Given the description of an element on the screen output the (x, y) to click on. 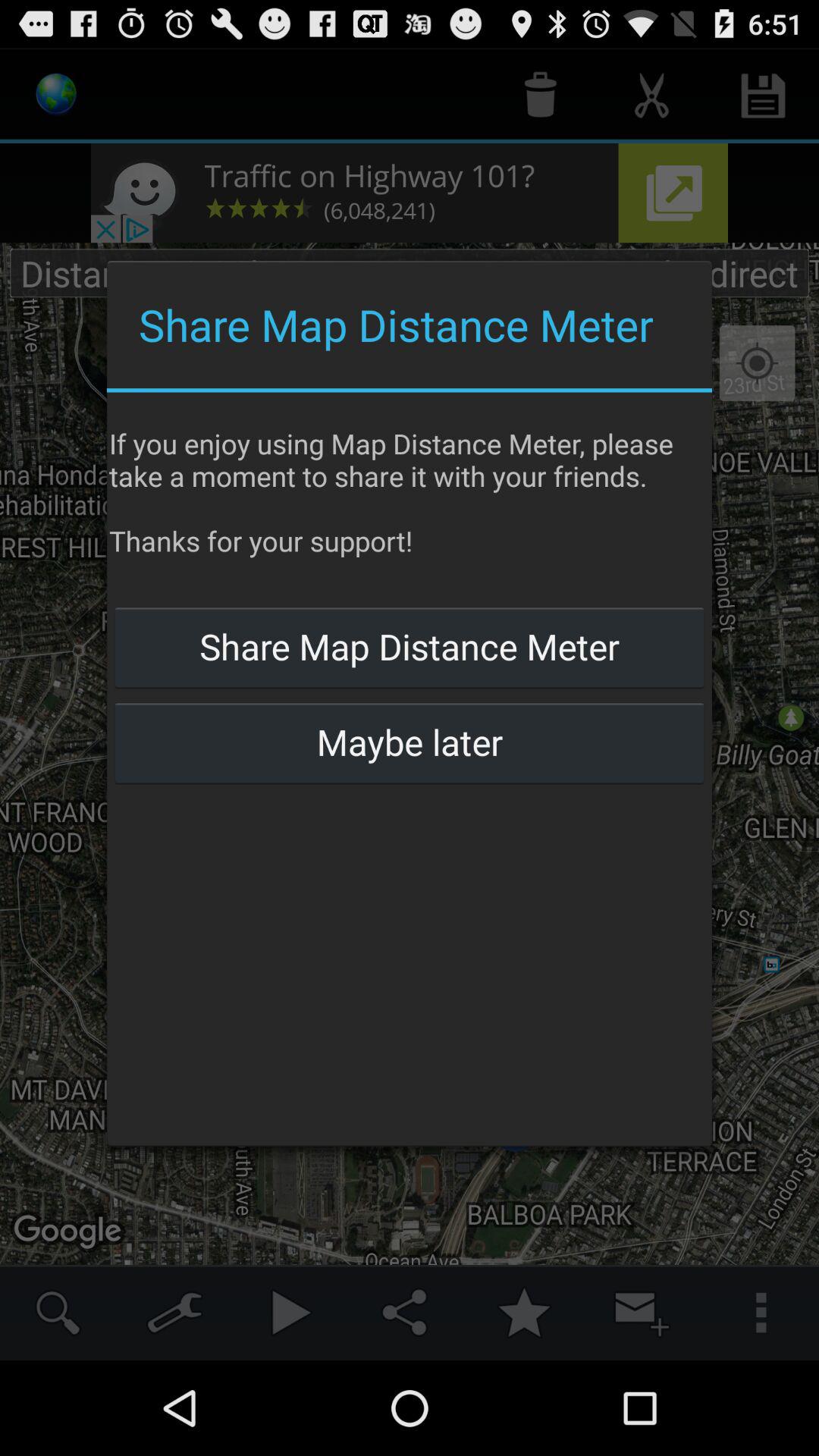
turn off icon below the share map distance button (409, 741)
